Given the description of an element on the screen output the (x, y) to click on. 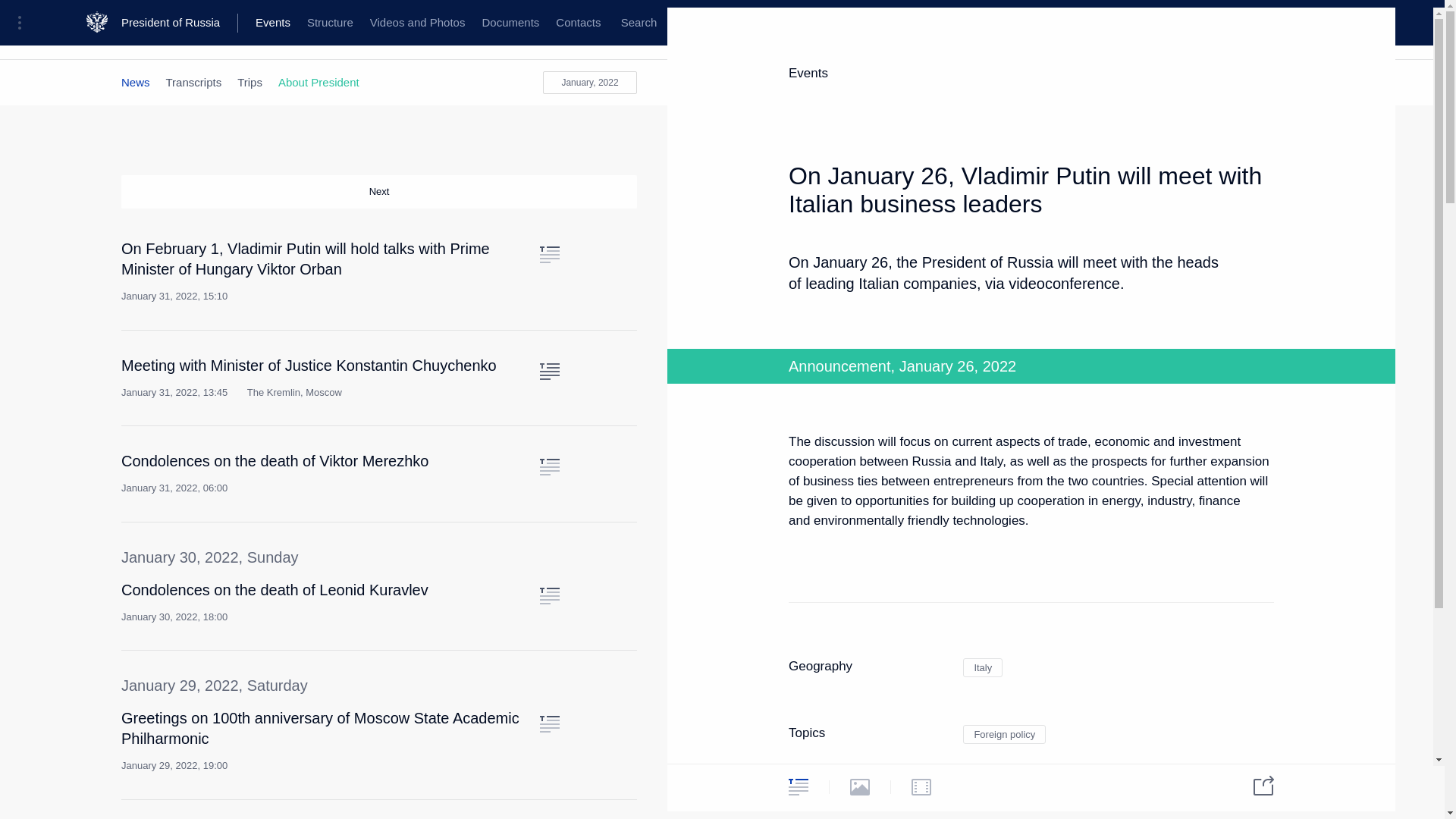
Presidential Executive Office (257, 35)
President of Russia (179, 22)
Security Council (470, 35)
About President (318, 82)
Documents (510, 22)
Text of the article (549, 596)
Text of the article (549, 723)
Global website search (638, 22)
Events (272, 22)
Search (638, 22)
Text of the article (549, 254)
Structure (329, 22)
